Given the description of an element on the screen output the (x, y) to click on. 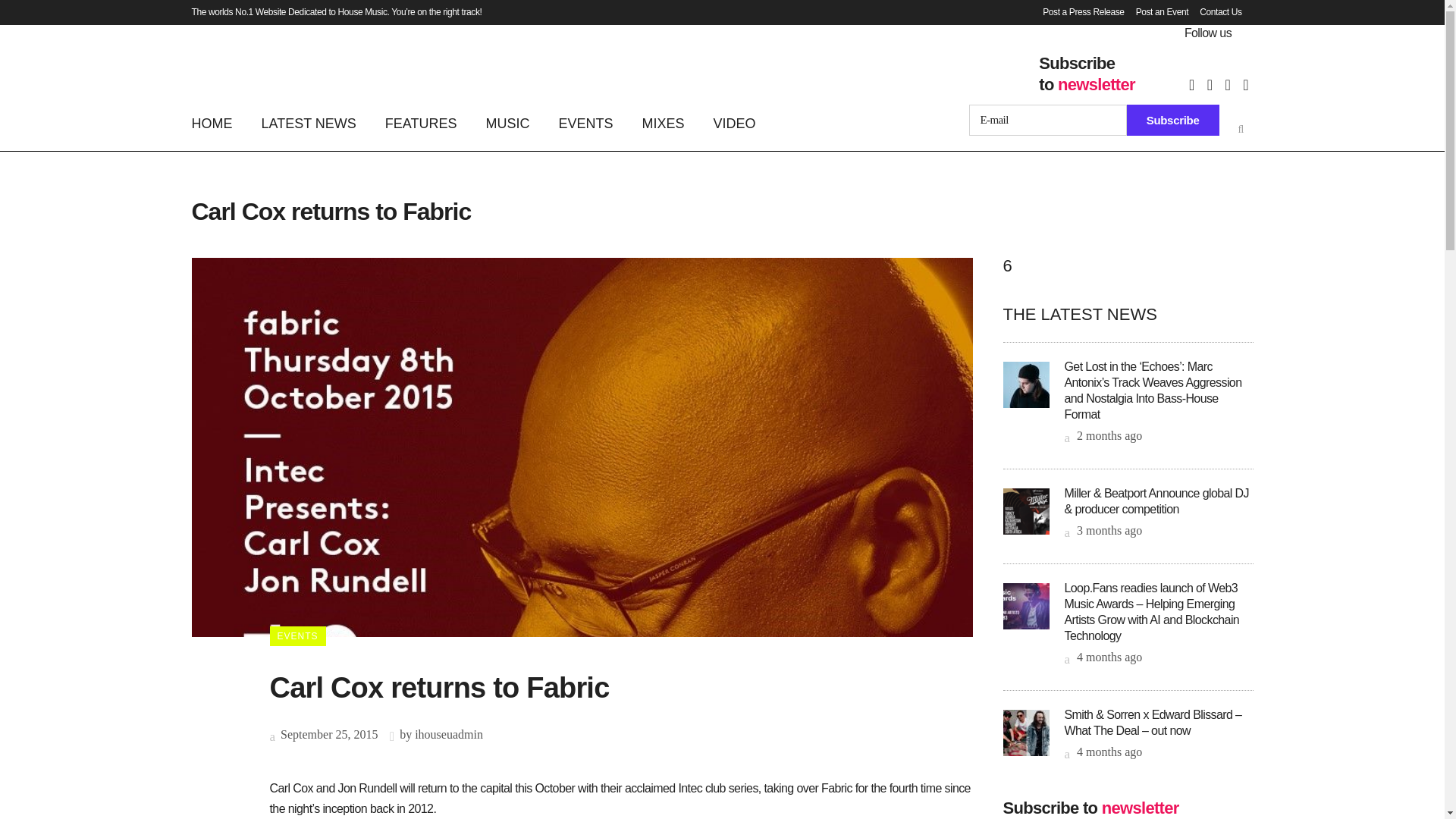
FEATURES (421, 123)
LATEST NEWS (309, 123)
Contact Us (1214, 12)
HOME (218, 123)
E-mail (1047, 119)
Post a Press Release (1077, 12)
Subscribe (1173, 119)
Post an Event (1156, 12)
